Given the description of an element on the screen output the (x, y) to click on. 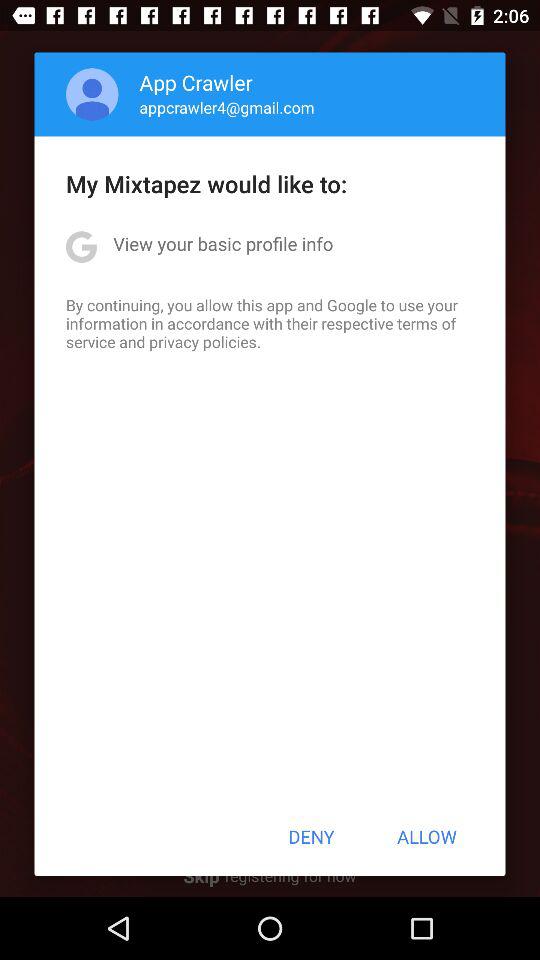
tap the app below the by continuing you app (311, 836)
